Given the description of an element on the screen output the (x, y) to click on. 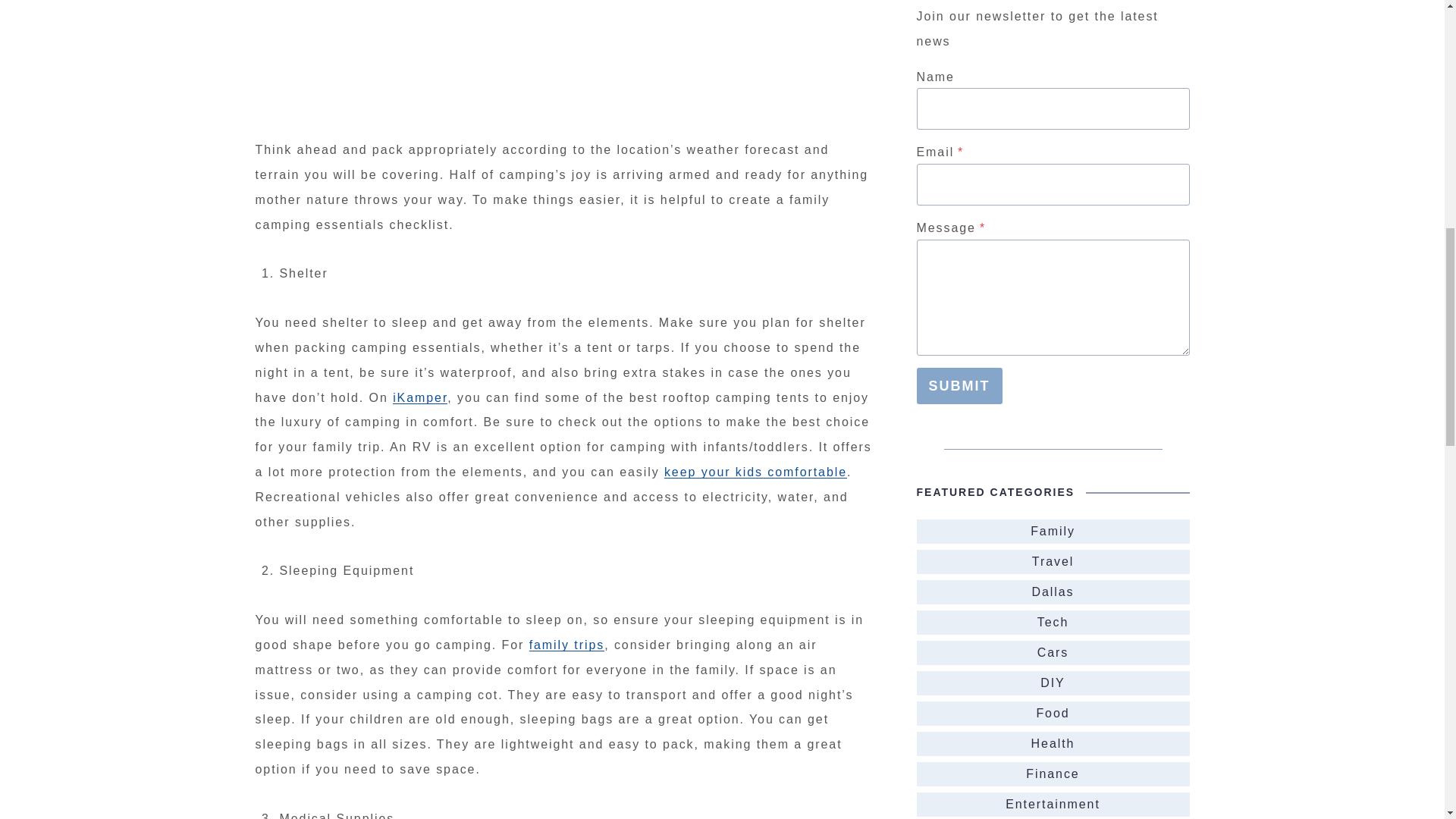
iKamper (419, 397)
